Given the description of an element on the screen output the (x, y) to click on. 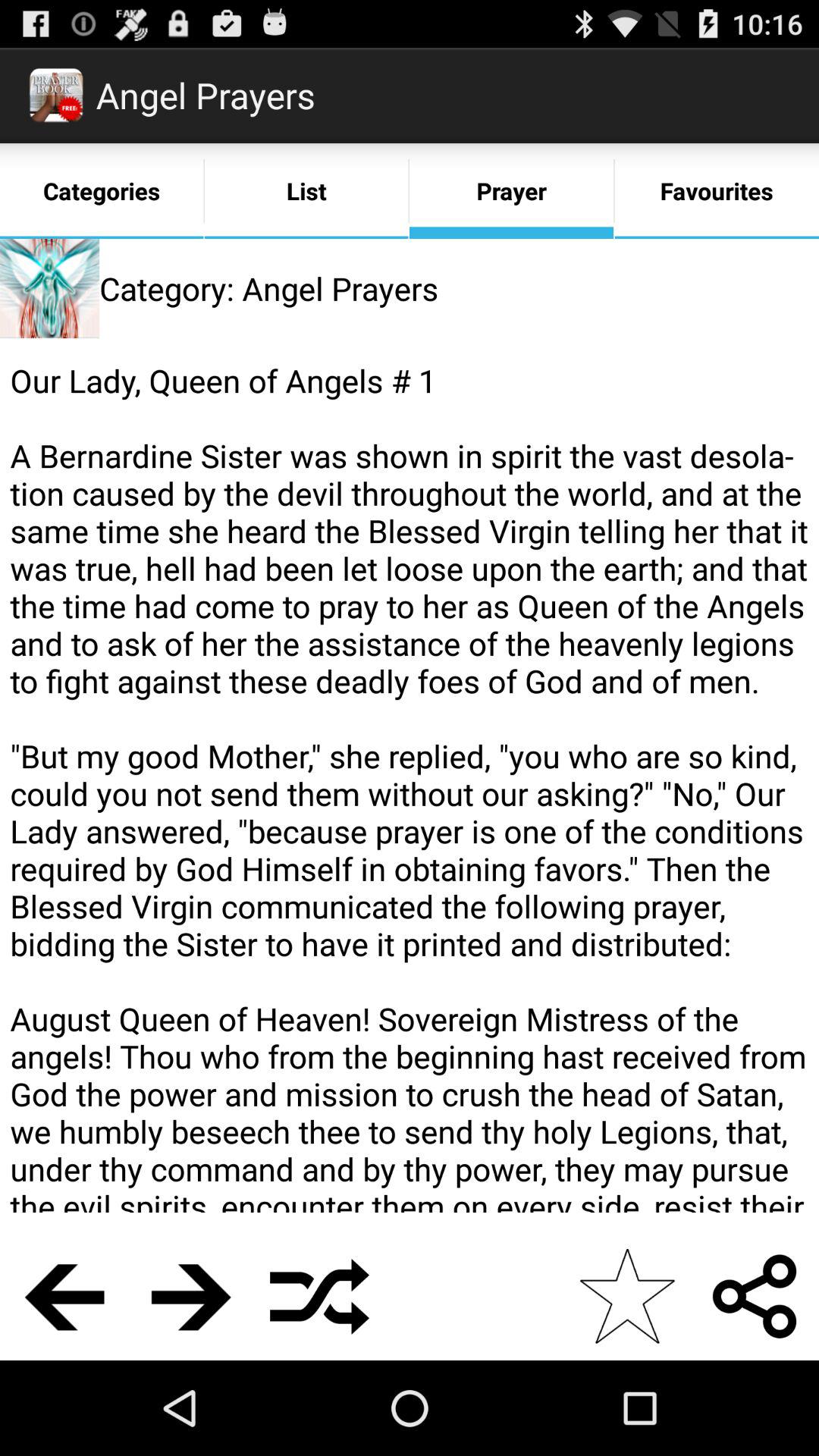
select icon at the bottom (319, 1296)
